Given the description of an element on the screen output the (x, y) to click on. 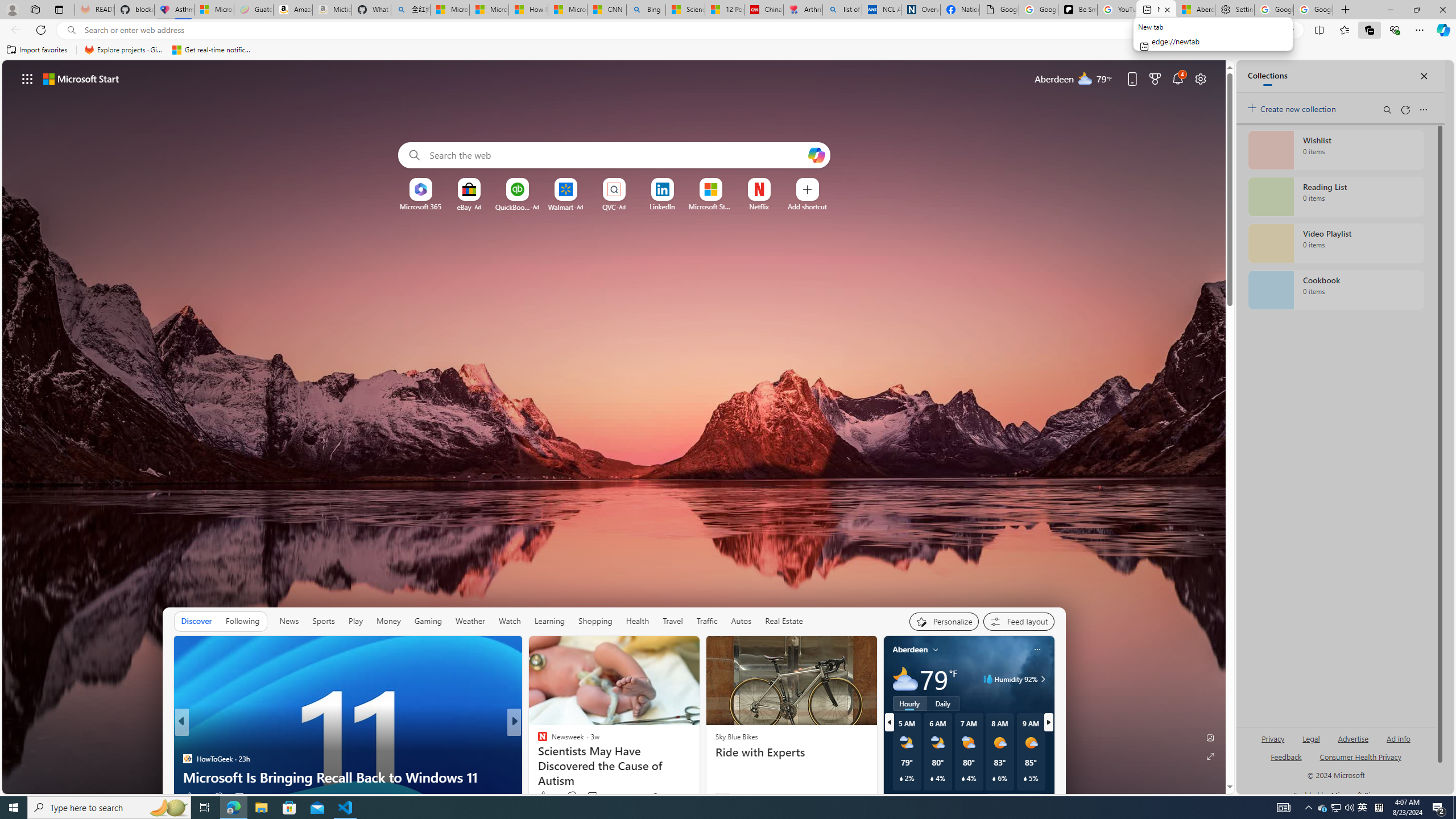
41 Like (543, 796)
My location (936, 649)
See full forecast (1013, 799)
HowToGeek (187, 758)
Class: weather-current-precipitation-glyph (1024, 778)
Here Are 7 Things White People Say That Show Their Privilege (697, 767)
View comments 429 Comment (599, 795)
